Given the description of an element on the screen output the (x, y) to click on. 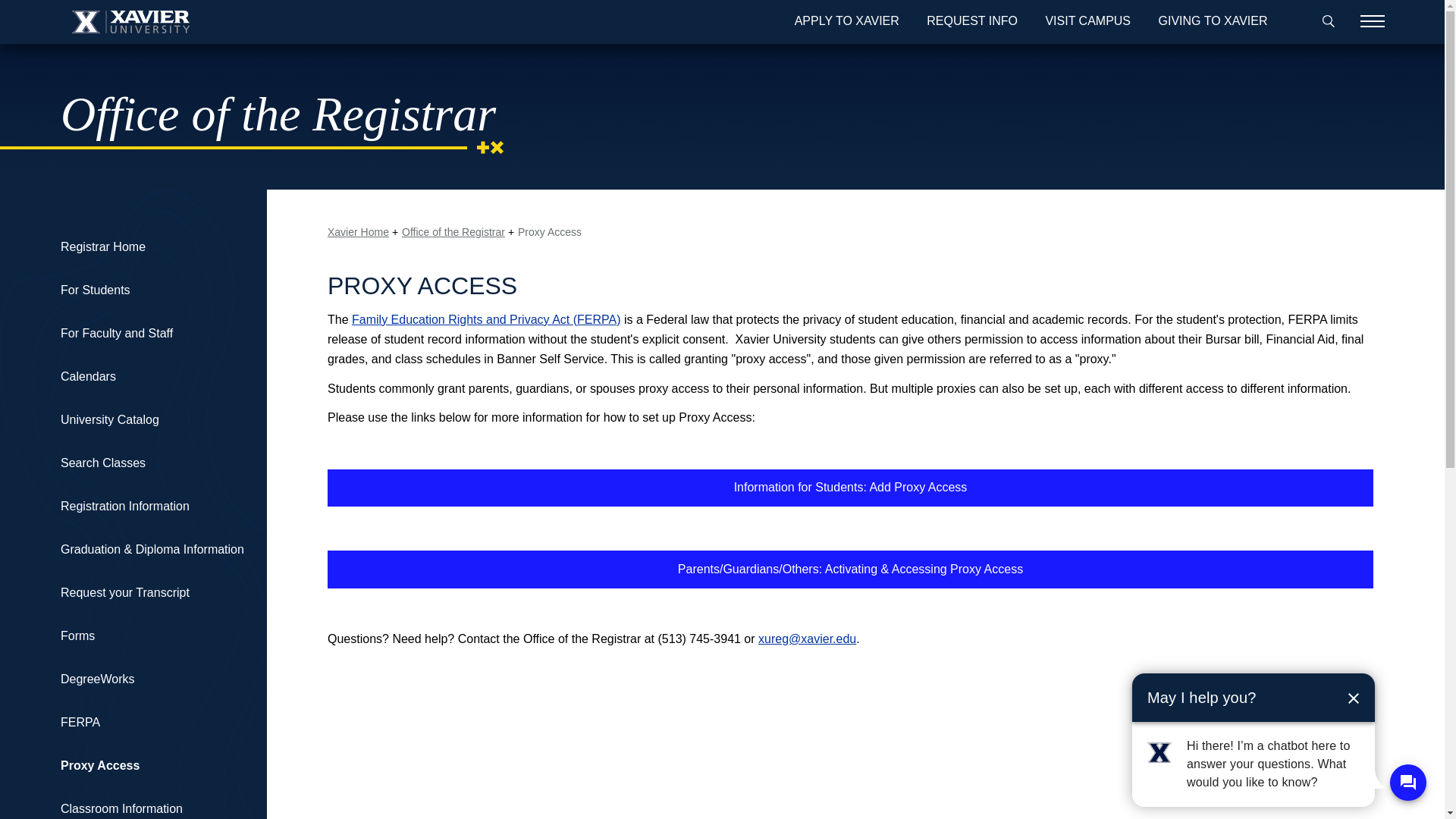
REQUEST INFO (971, 21)
GIVING TO XAVIER (1213, 21)
OPEN NAVIGATION MENU (1371, 22)
APPLY TO XAVIER (846, 21)
OPEN SEARCH DIALOG (1325, 22)
VISIT CAMPUS (1088, 21)
Xavier University (130, 21)
